Given the description of an element on the screen output the (x, y) to click on. 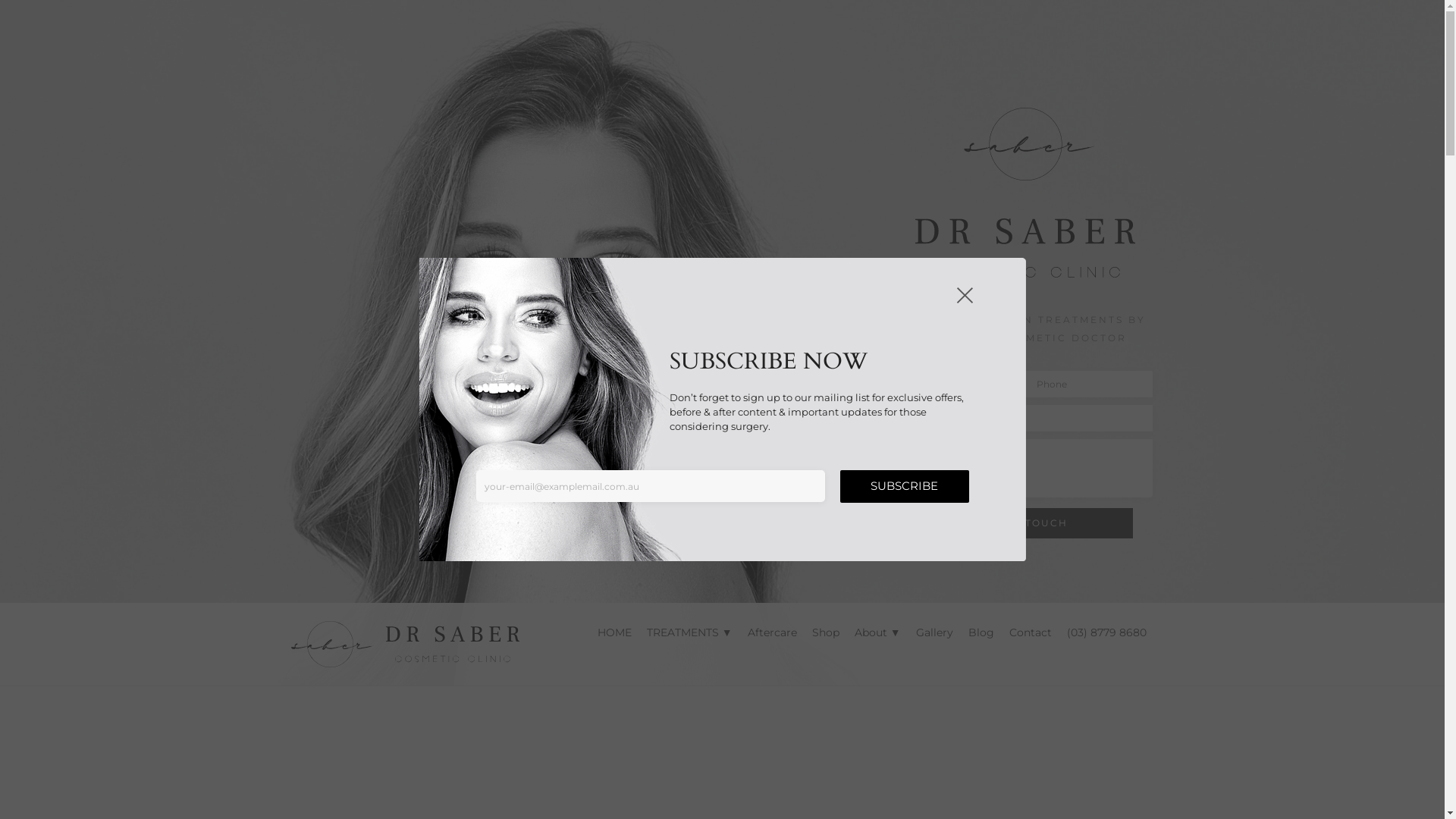
HOME Element type: text (614, 632)
Contact Element type: text (1029, 632)
Gallery Element type: text (934, 632)
Aftercare Element type: text (772, 632)
(03) 8779 8680 Element type: text (1105, 632)
Dr Saber Ansari Element type: hover (405, 642)
Blog Element type: text (980, 632)
Shop Element type: text (825, 632)
GET IN TOUCH Element type: text (1024, 523)
SUBSCRIBE Element type: text (904, 486)
Dr Saber Ansari Element type: hover (405, 644)
